Given the description of an element on the screen output the (x, y) to click on. 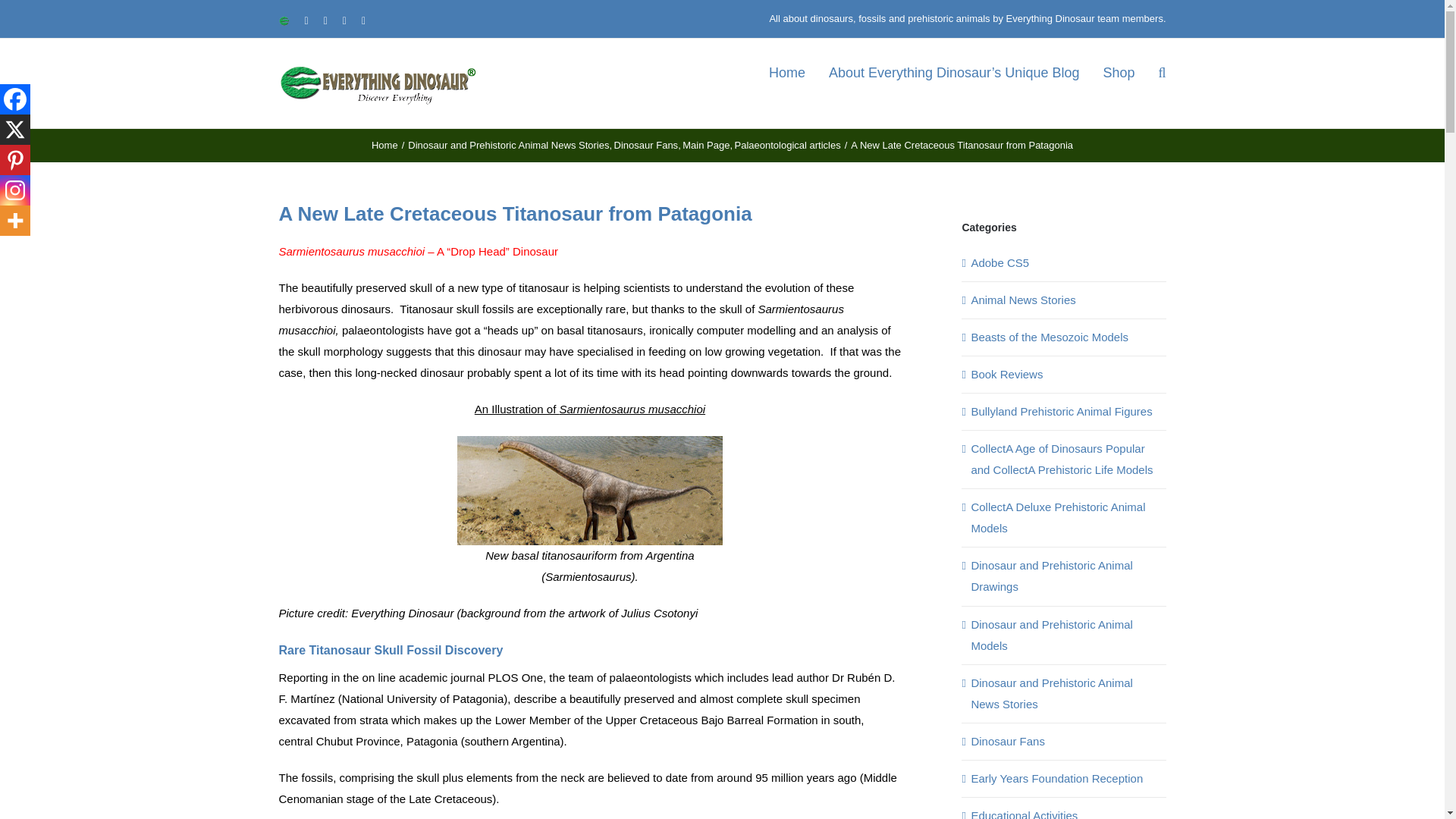
Dinosaur and Prehistoric Animal News Stories (507, 144)
Website (284, 20)
Main Page (705, 144)
Dinosaur Fans (646, 144)
More (15, 220)
Palaeontological articles (788, 144)
Pinterest (15, 159)
X (15, 129)
Website (284, 20)
Facebook (15, 99)
